Given the description of an element on the screen output the (x, y) to click on. 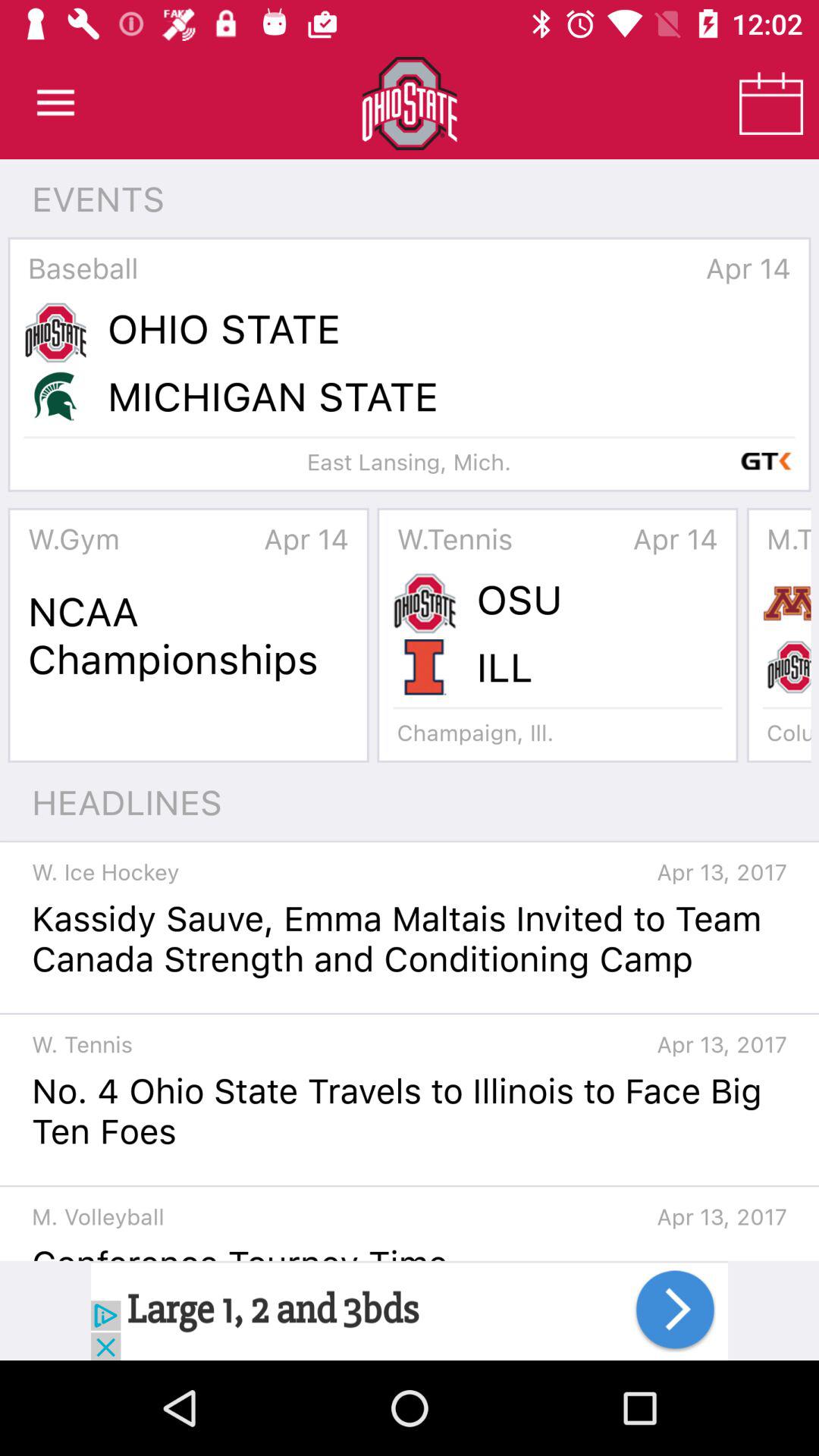
advertisement banner (409, 1310)
